Given the description of an element on the screen output the (x, y) to click on. 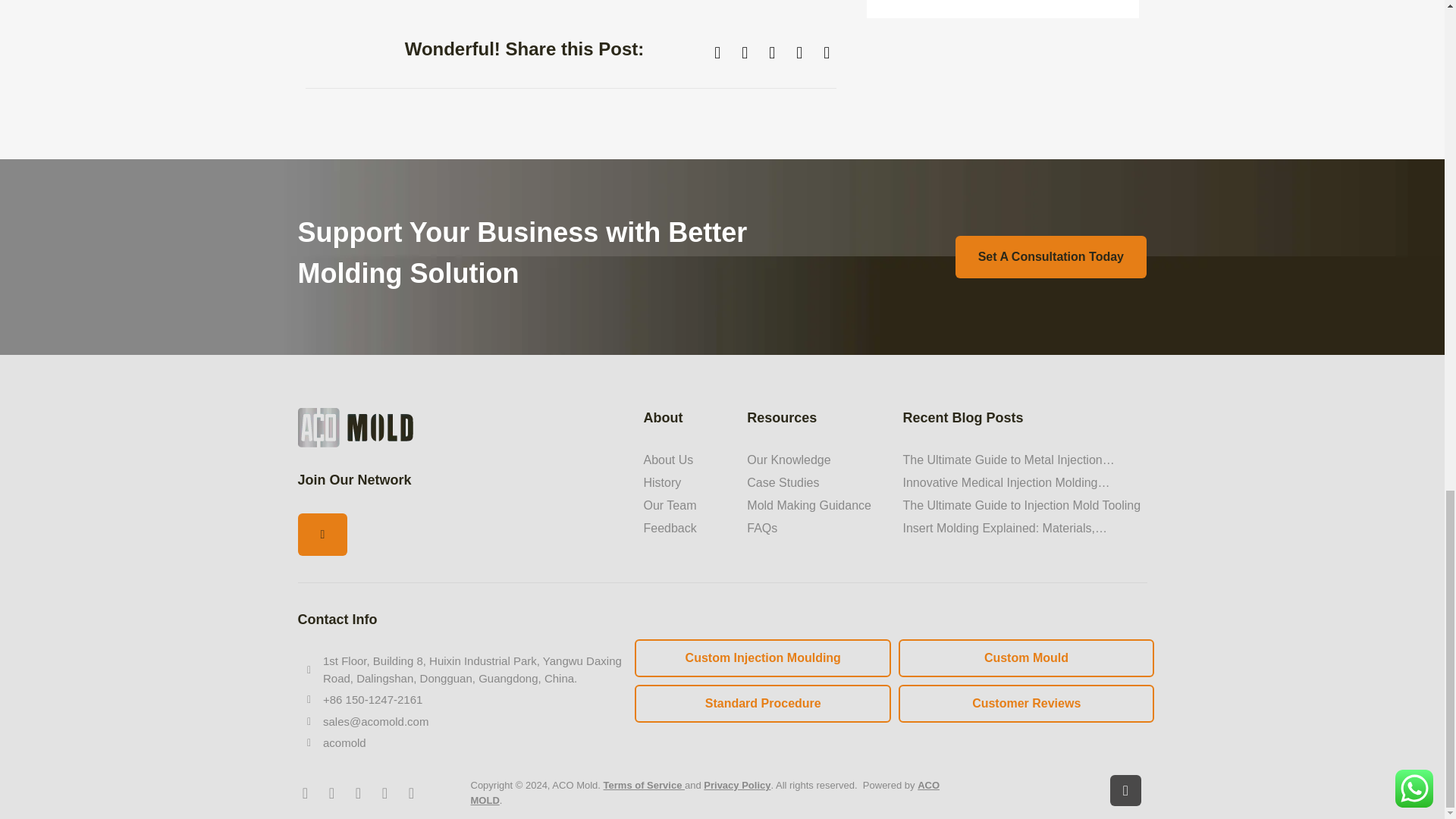
Mold Making Guidance (816, 505)
The Ultimate Guide to Metal Injection Molding (1023, 460)
Case Studies (816, 483)
History (687, 483)
Feedback (687, 528)
Our Team (687, 505)
FAQs (816, 528)
The Ultimate Guide to Injection Mold Tooling (1023, 505)
Set A Consultation Today (1051, 256)
Our Knowledge (816, 460)
About Us (687, 460)
